Given the description of an element on the screen output the (x, y) to click on. 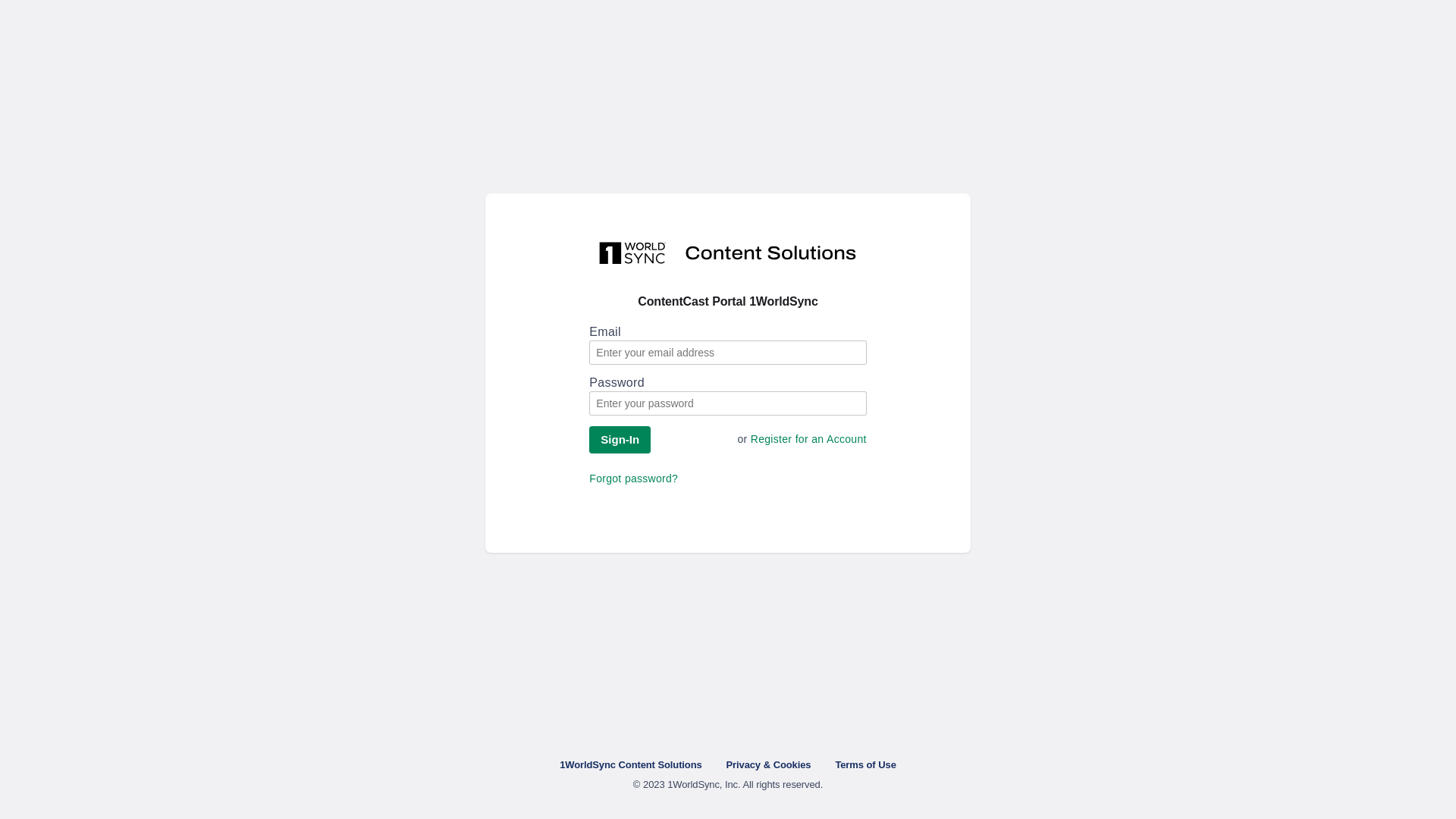
Register for an Account Element type: text (808, 439)
Forgot password? Element type: text (633, 478)
1WorldSync Content Solutions Element type: text (630, 764)
Sign-In Element type: text (619, 440)
Privacy & Cookies Element type: text (768, 764)
Terms of Use Element type: text (864, 764)
